Given the description of an element on the screen output the (x, y) to click on. 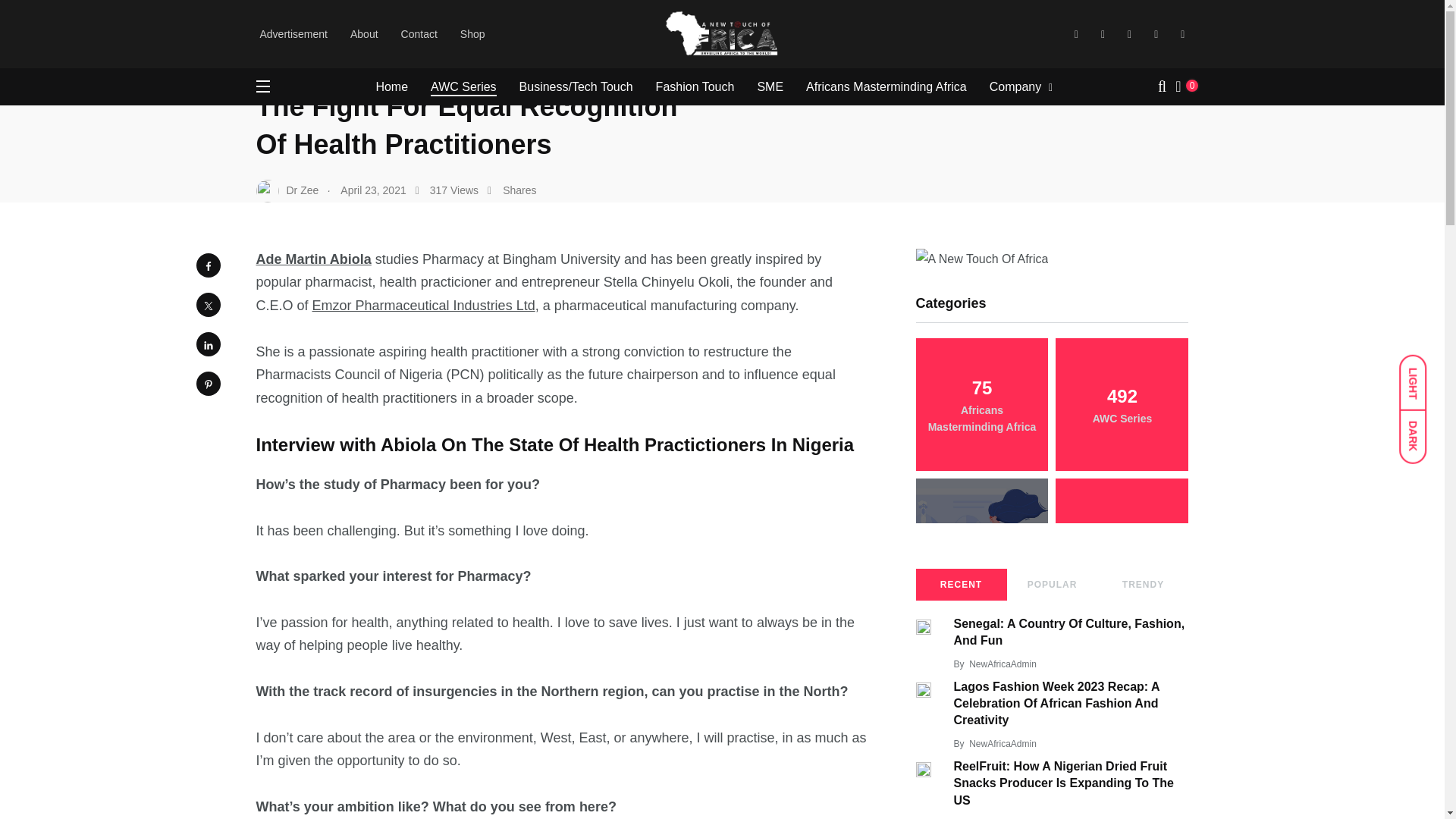
Go to News. (392, 23)
Share on Twitter (207, 304)
Africans Masterminding Africa (886, 86)
Go to the AWC Series Category archives. (452, 23)
Share on Pinterest (207, 383)
Fashion Touch (695, 86)
Share on Facebook (207, 265)
SME (770, 86)
News (392, 23)
A New Touch Of Africa (308, 23)
